Given the description of an element on the screen output the (x, y) to click on. 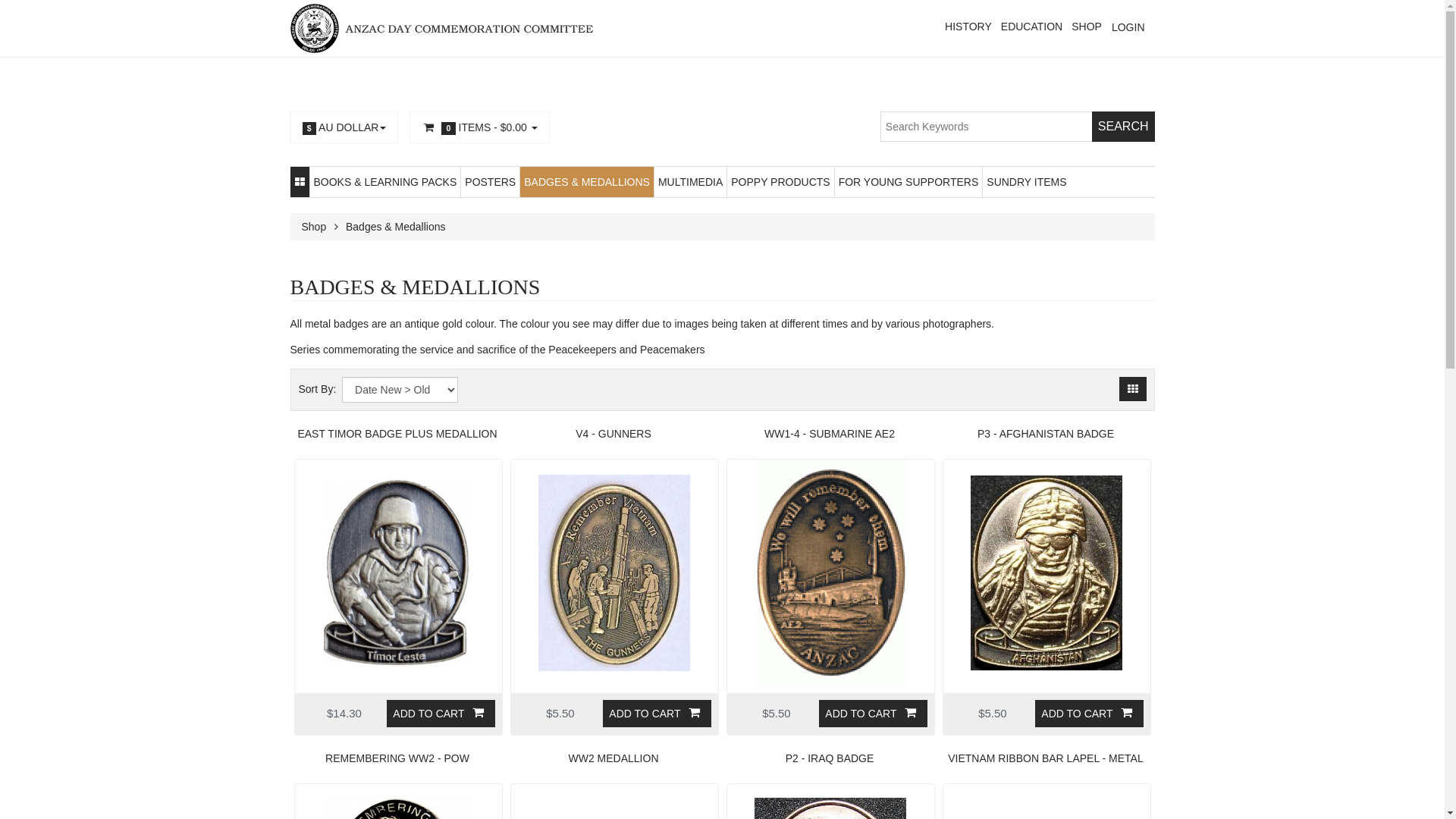
ADD TO CART Element type: text (1088, 713)
Shop Element type: text (313, 226)
  0 ITEMS - $0.00 Element type: text (479, 127)
EAST TIMOR BADGE PLUS MEDALLION Element type: text (404, 433)
MULTIMEDIA Element type: text (690, 181)
SHOP Element type: text (1086, 26)
ADD TO CART Element type: text (872, 713)
$ AU DOLLAR Element type: text (344, 127)
Badges & Medallions Element type: text (395, 226)
Anzacday Online Shop Element type: hover (440, 28)
EDUCATION Element type: text (1031, 26)
BADGES & MEDALLIONS Element type: text (586, 181)
P2 - IRAQ BADGE Element type: text (836, 757)
P3 - AFGHANISTAN BADGE Element type: text (1051, 433)
REMEMBERING WW2 - POW Element type: text (404, 757)
V4 - GUNNERS Element type: text (619, 433)
ADD TO CART Element type: text (440, 713)
HISTORY Element type: text (967, 26)
VIETNAM RIBBON BAR LAPEL - METAL Element type: text (1051, 757)
SUNDRY ITEMS Element type: text (1026, 181)
POPPY PRODUCTS Element type: text (780, 181)
POSTERS Element type: text (490, 181)
FOR YOUNG SUPPORTERS Element type: text (908, 181)
WW2 MEDALLION Element type: text (619, 757)
ADD TO CART Element type: text (656, 713)
BOOKS & LEARNING PACKS Element type: text (384, 181)
LOGIN Element type: text (1128, 26)
WW1-4 - SUBMARINE AE2 Element type: text (836, 433)
